Given the description of an element on the screen output the (x, y) to click on. 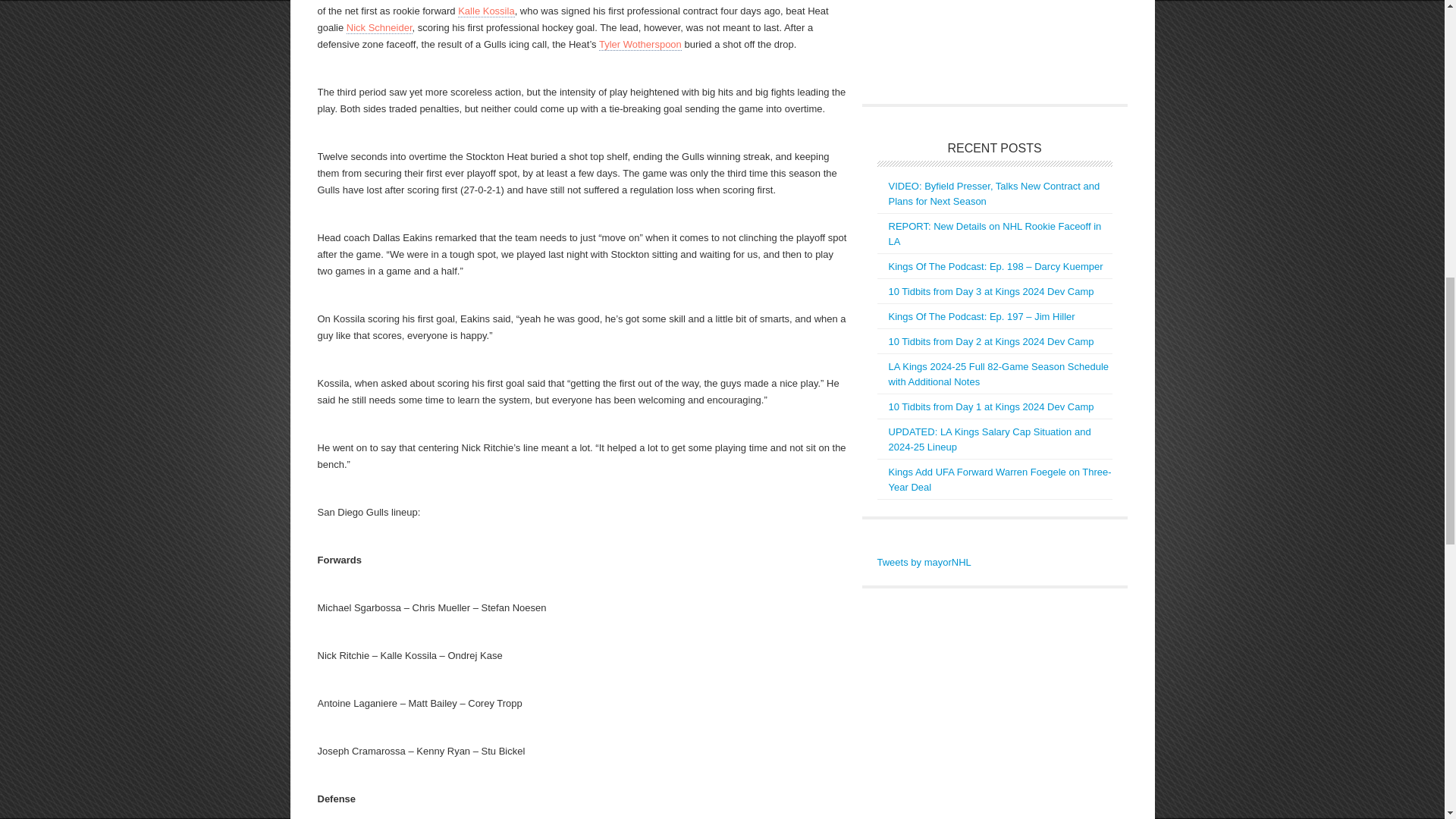
Kings Add UFA Forward Warren Foegele on Three-Year Deal (1000, 479)
10 Tidbits from Day 1 at Kings 2024 Dev Camp (991, 406)
REPORT: New Details on NHL Rookie Faceoff in LA (995, 233)
Tyler Wotherspoon (639, 44)
UPDATED: LA Kings Salary Cap Situation and 2024-25 Lineup (989, 438)
Tweets by mayorNHL (923, 562)
Kalle Kossila (485, 10)
Nick Schneider (379, 28)
10 Tidbits from Day 2 at Kings 2024 Dev Camp (991, 341)
3rd party ad content (989, 44)
10 Tidbits from Day 3 at Kings 2024 Dev Camp (991, 291)
